Given the description of an element on the screen output the (x, y) to click on. 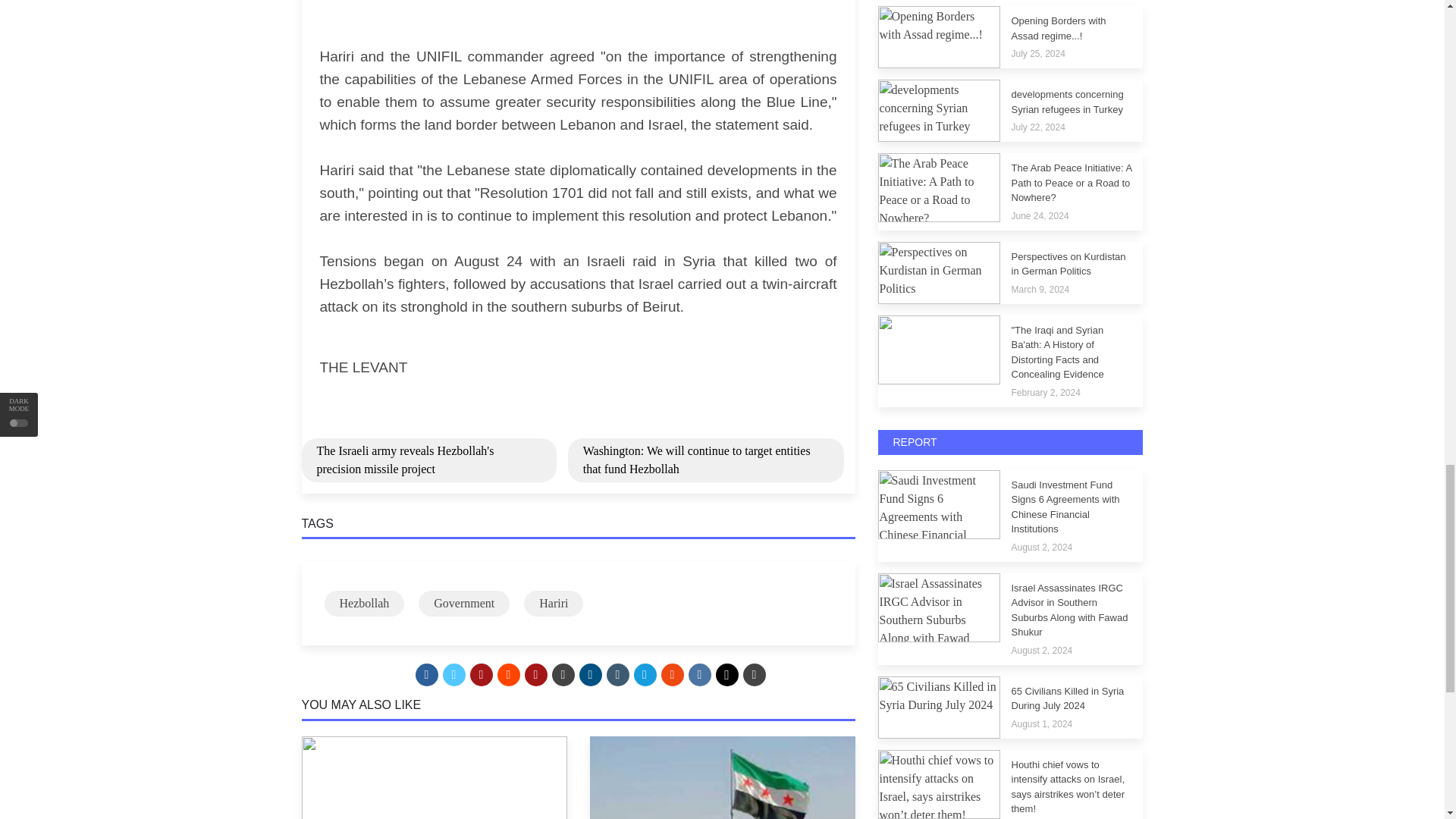
Government (464, 603)
Hezbollah (364, 603)
THE LEVANT (363, 367)
Hariri (553, 603)
